Given the description of an element on the screen output the (x, y) to click on. 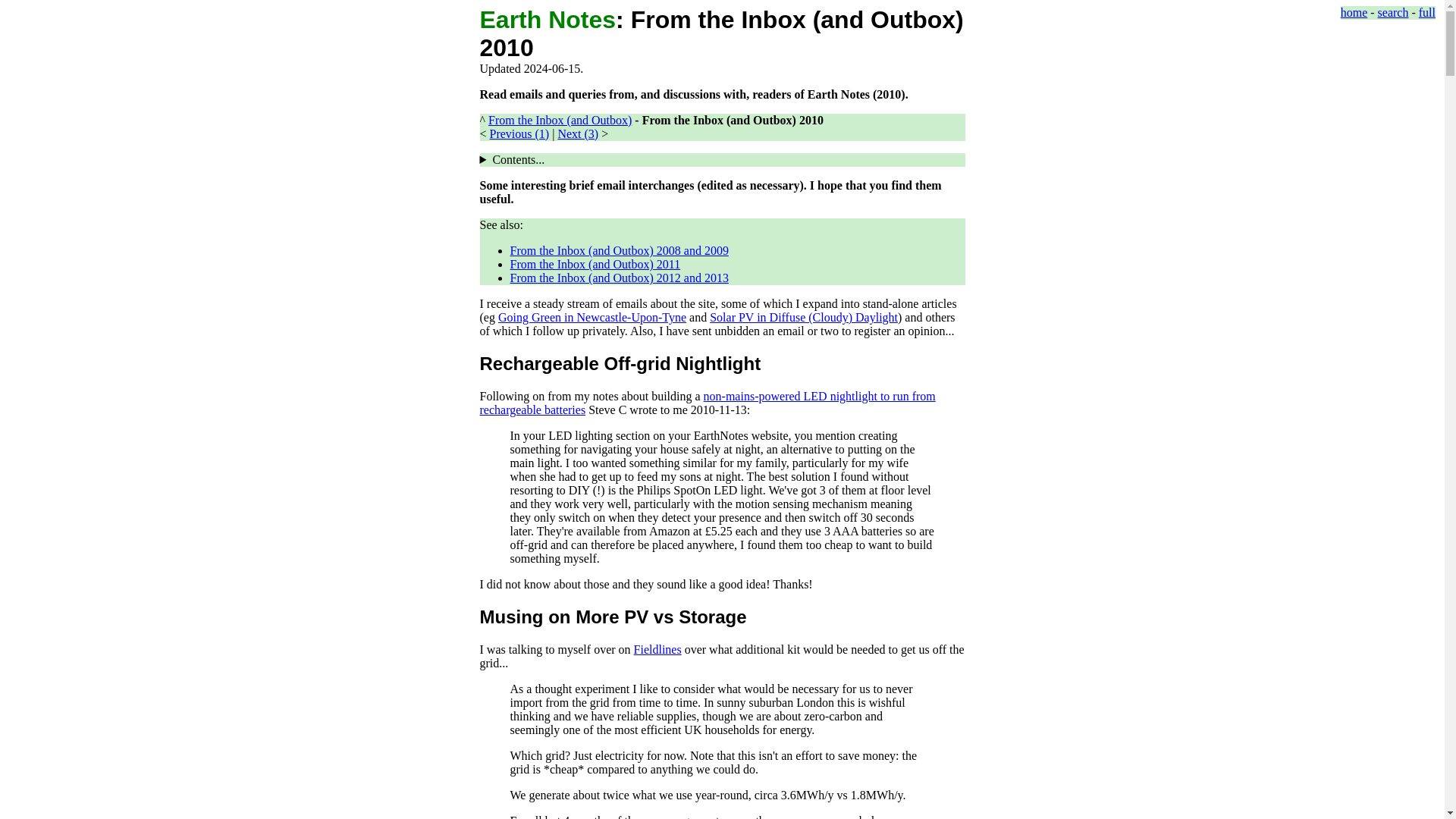
Going Green in Newcastle-Upon-Tyne (591, 317)
search (1393, 11)
Fieldlines (657, 649)
home (1354, 11)
